Given the description of an element on the screen output the (x, y) to click on. 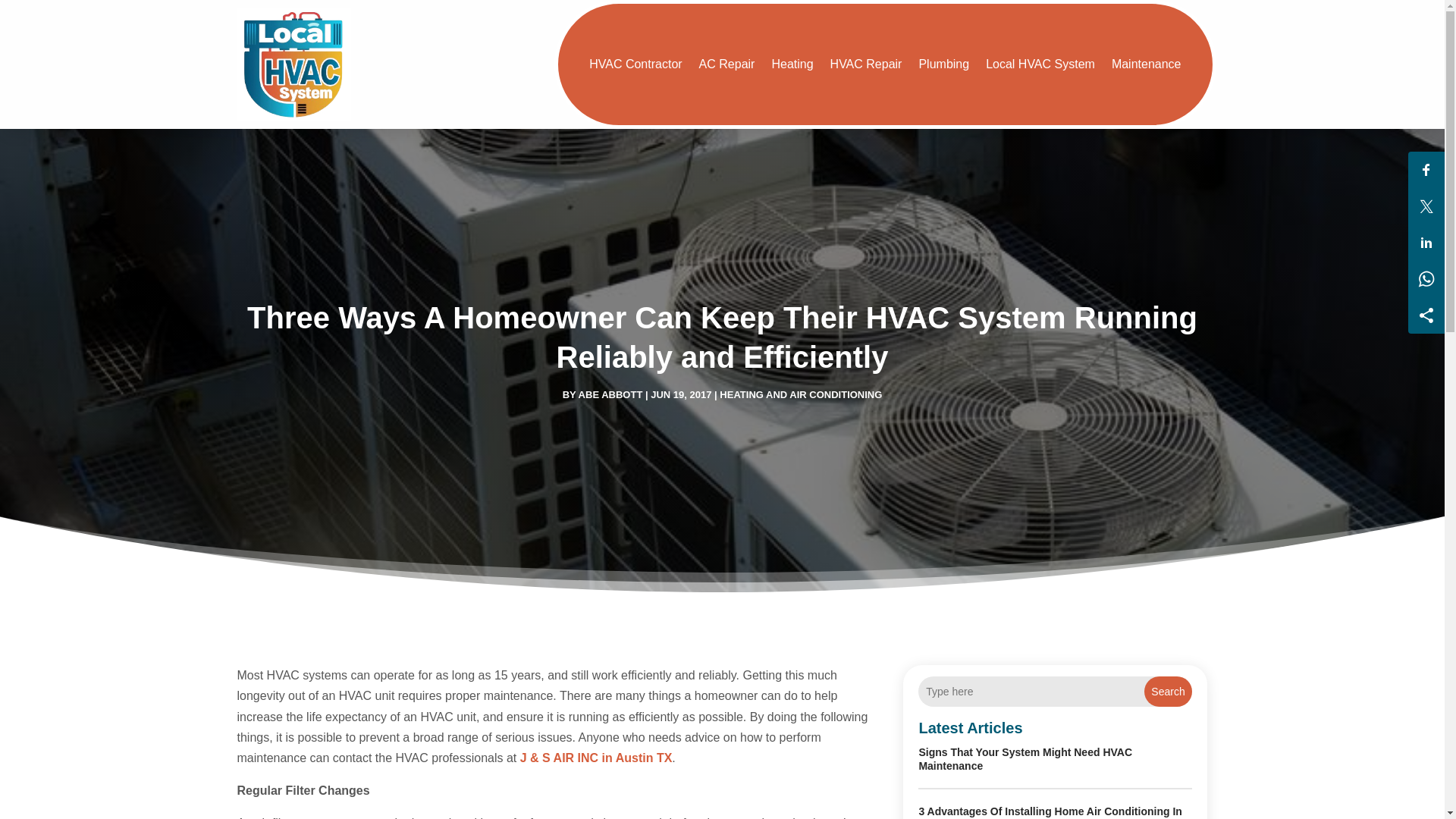
Posts by Abe Abbott (610, 393)
Local HVAC System (1039, 64)
HEATING AND AIR CONDITIONING (800, 393)
Signs That Your System Might Need HVAC Maintenance (1025, 759)
ABE ABBOTT (610, 393)
Search (1168, 691)
